Given the description of an element on the screen output the (x, y) to click on. 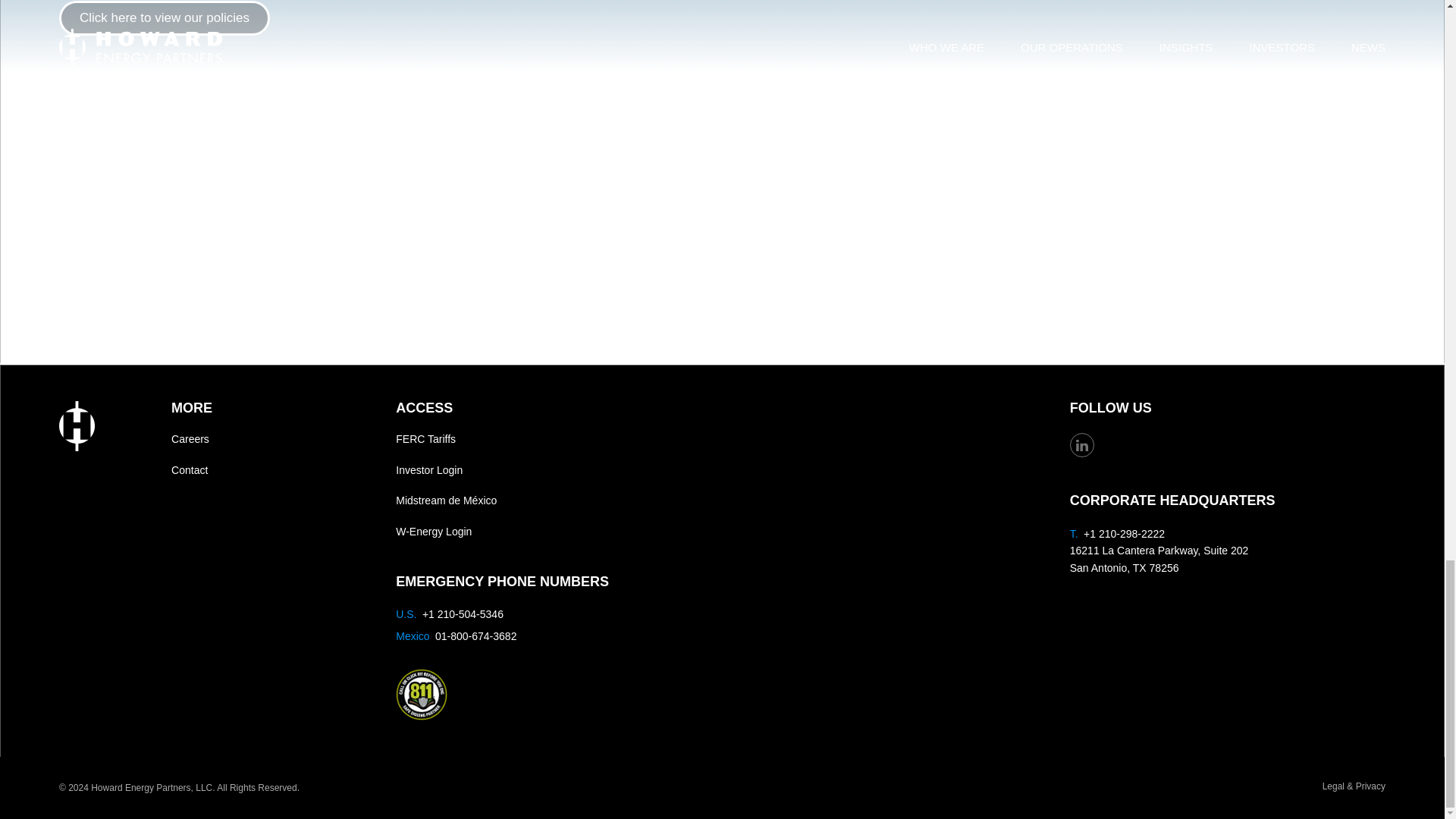
W-Energy Login (553, 531)
01-800-674-3682 (475, 635)
Click here to view our policies (164, 18)
Investor Login (553, 470)
Careers (272, 439)
Contact (272, 470)
FERC Tariffs (553, 439)
